Given the description of an element on the screen output the (x, y) to click on. 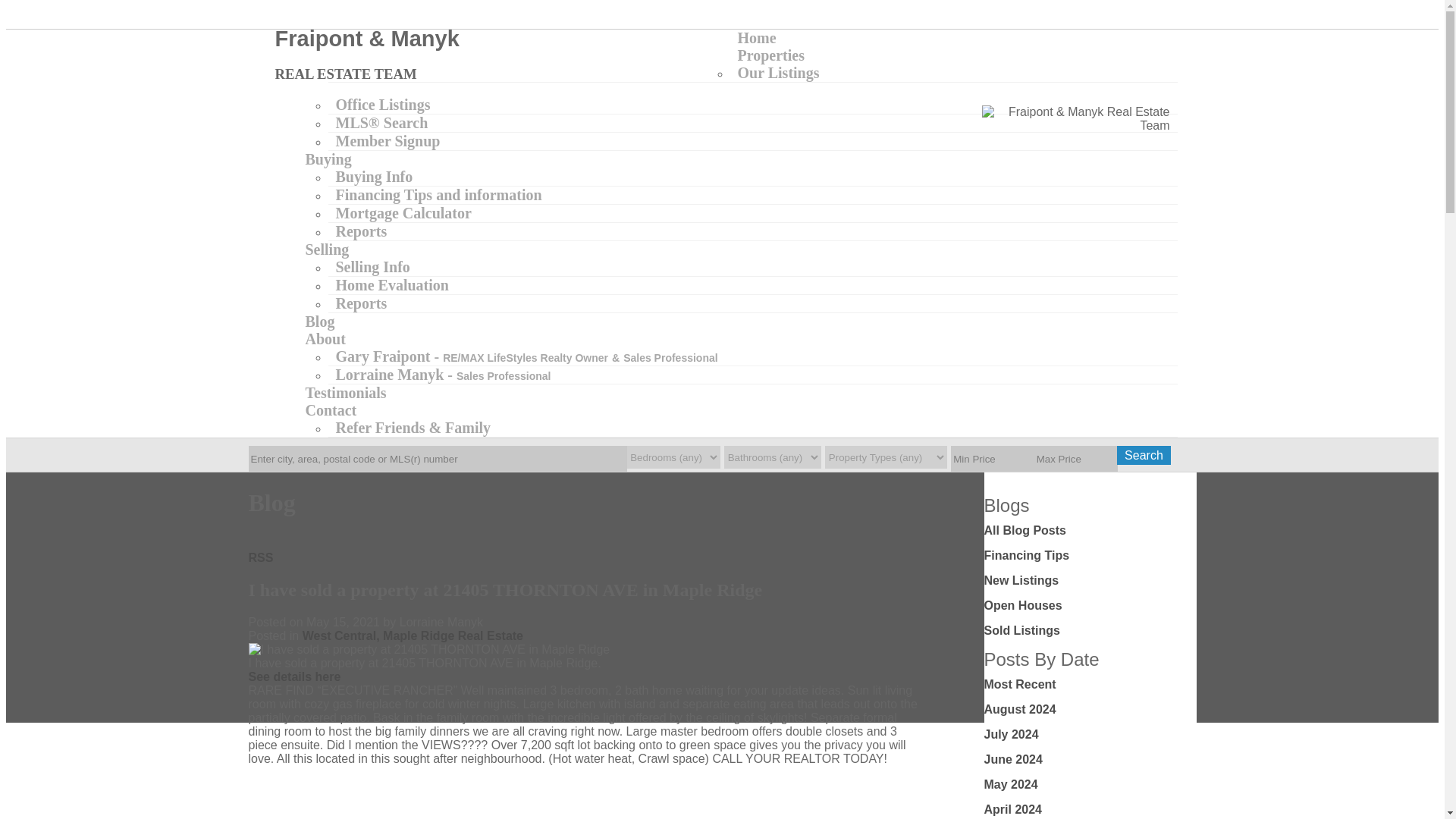
Most Recent (1020, 684)
New Listings (1021, 580)
Lorraine Manyk - Sales Professional (442, 374)
Reports (360, 231)
Buying (327, 158)
See details here (294, 676)
April 2024 (1013, 809)
RSS (260, 557)
Home Evaluation (391, 284)
Buying Info (373, 176)
